Given the description of an element on the screen output the (x, y) to click on. 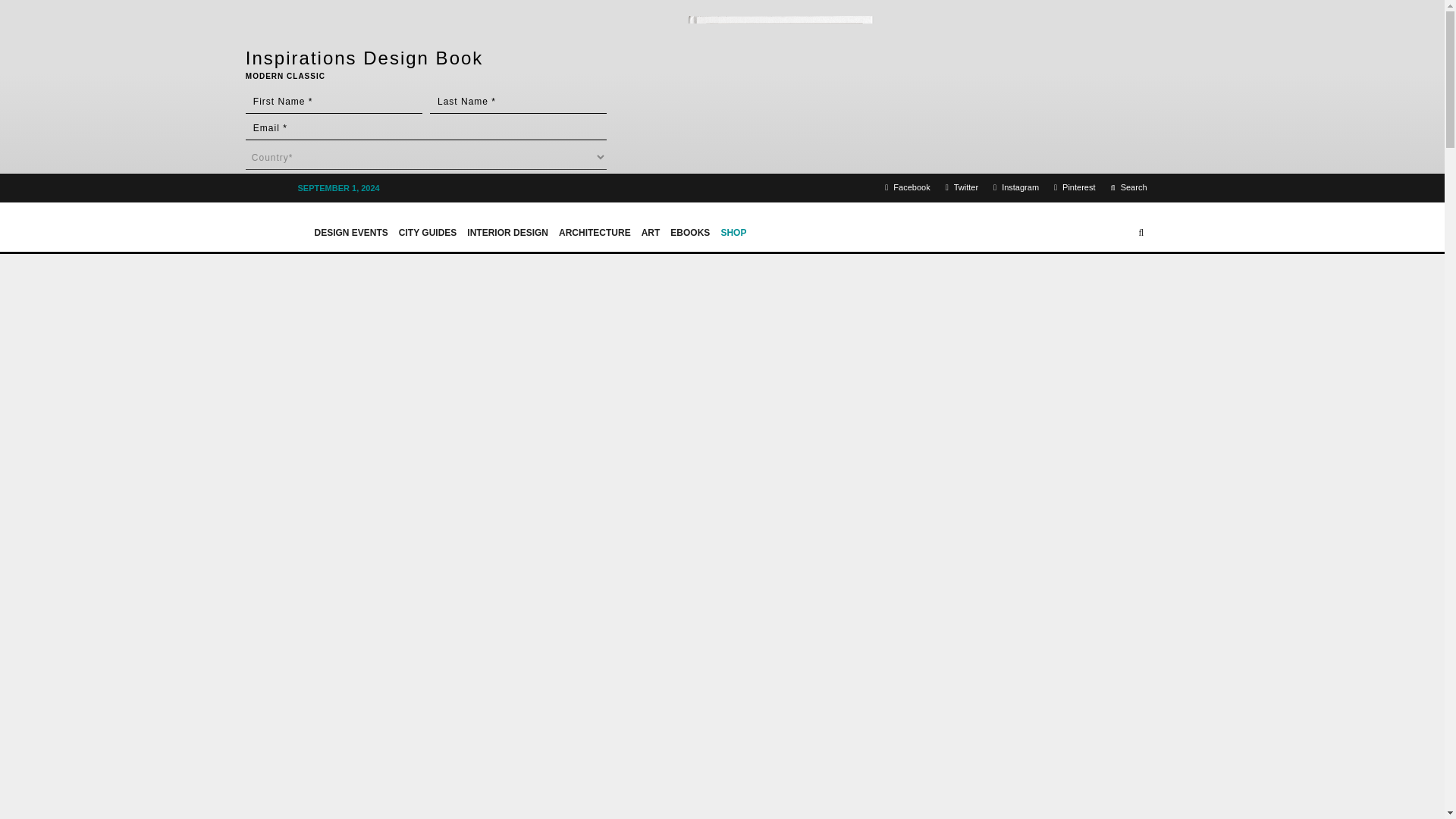
Search (1128, 187)
DOWNLOAD NOW (310, 215)
Twitter (961, 187)
Pinterest (1074, 187)
Facebook (907, 187)
DESIGN EVENTS (350, 226)
DOWNLOAD NOW (310, 215)
Instagram (1015, 187)
